Given the description of an element on the screen output the (x, y) to click on. 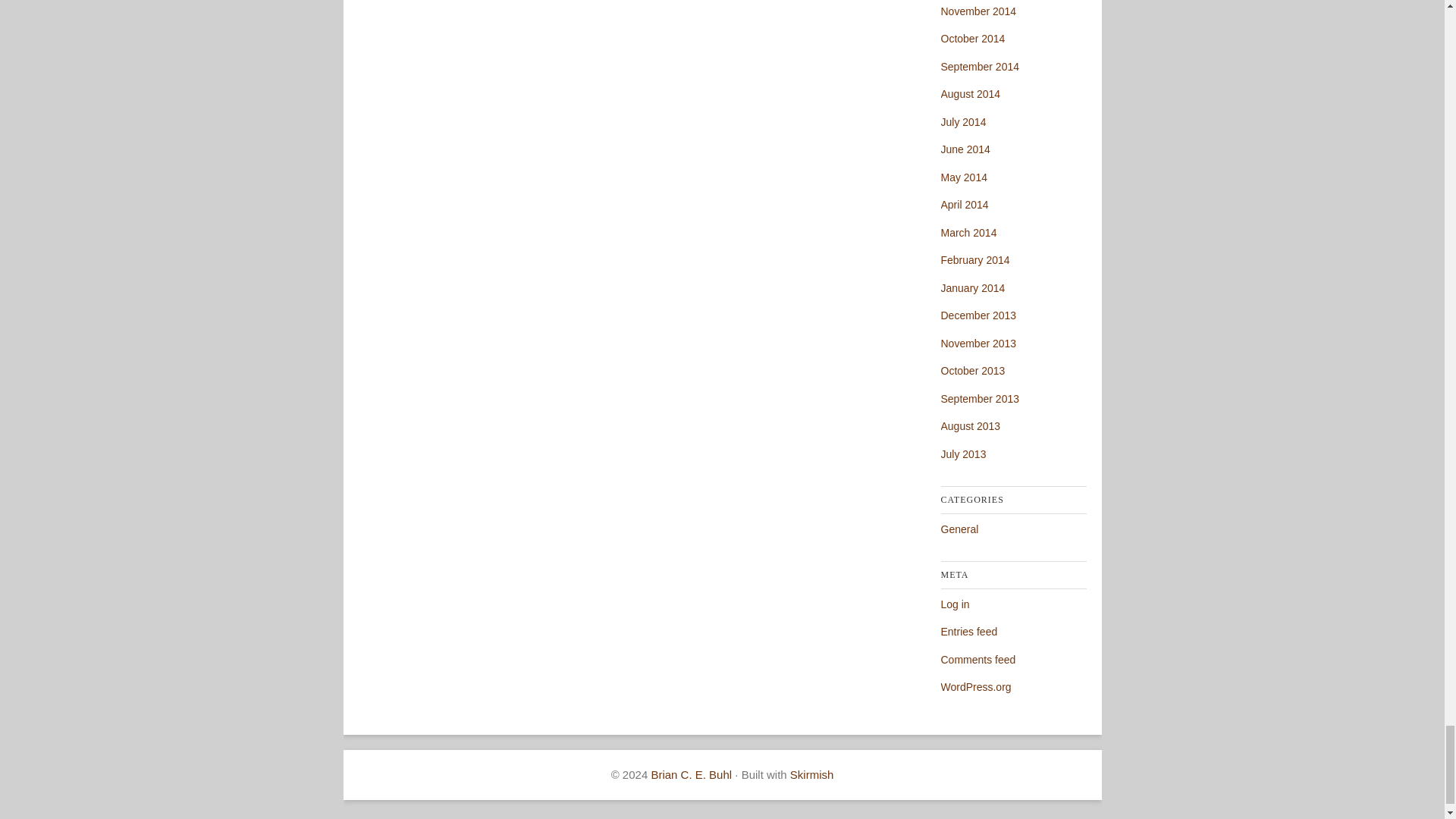
Brian C. E. Buhl (691, 774)
